Given the description of an element on the screen output the (x, y) to click on. 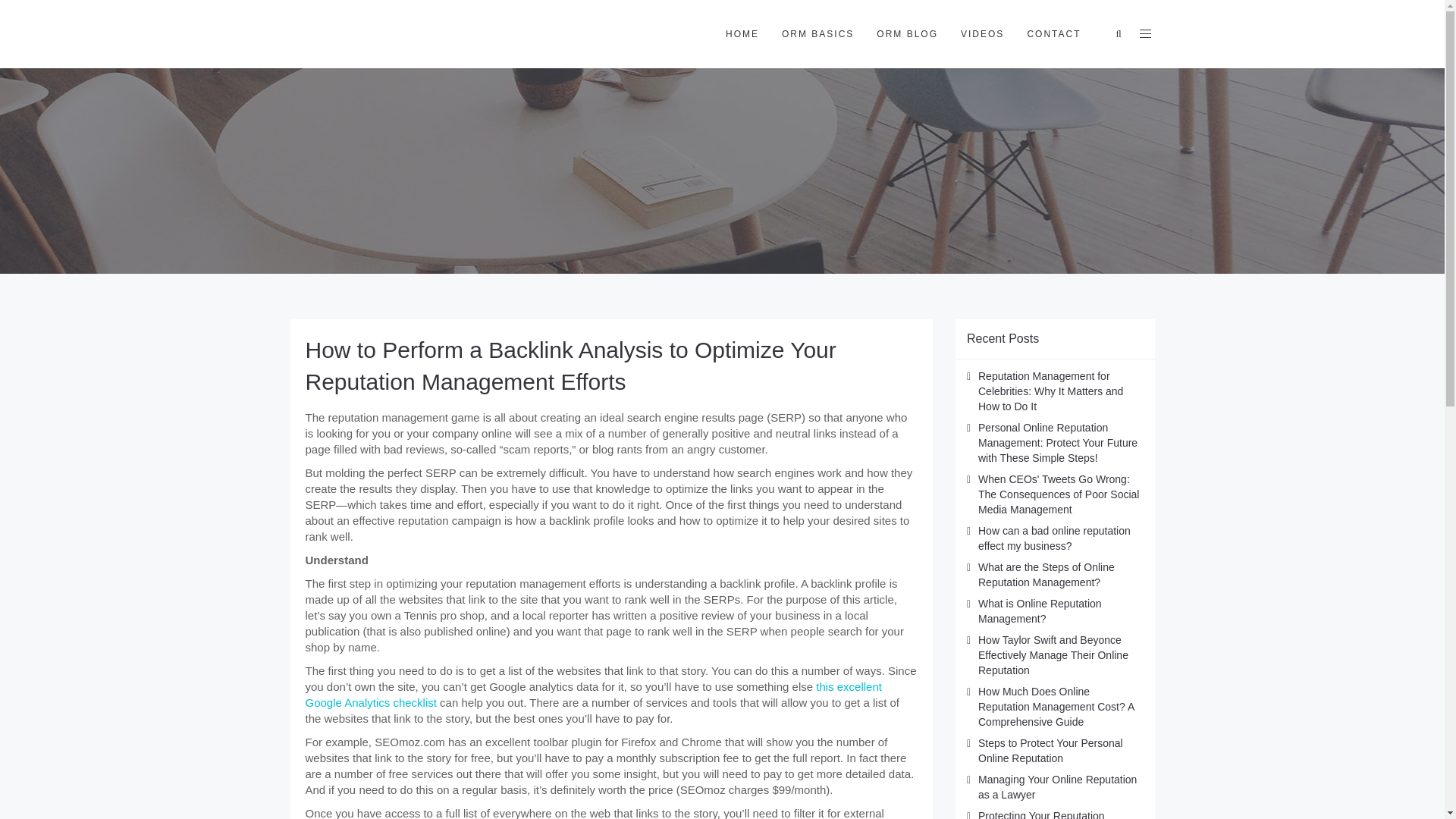
Protecting Your Reputation Online: Strategies for Doctors (1048, 814)
What is Online Reputation Management? (1040, 610)
Steps to Protect Your Personal Online Reputation (1050, 750)
Managing Your Online Reputation as a Lawyer (1057, 786)
CONTACT (1053, 33)
ORM BASICS (817, 33)
this excellent Google Analytics checklist (592, 694)
ORM BLOG (906, 33)
